Given the description of an element on the screen output the (x, y) to click on. 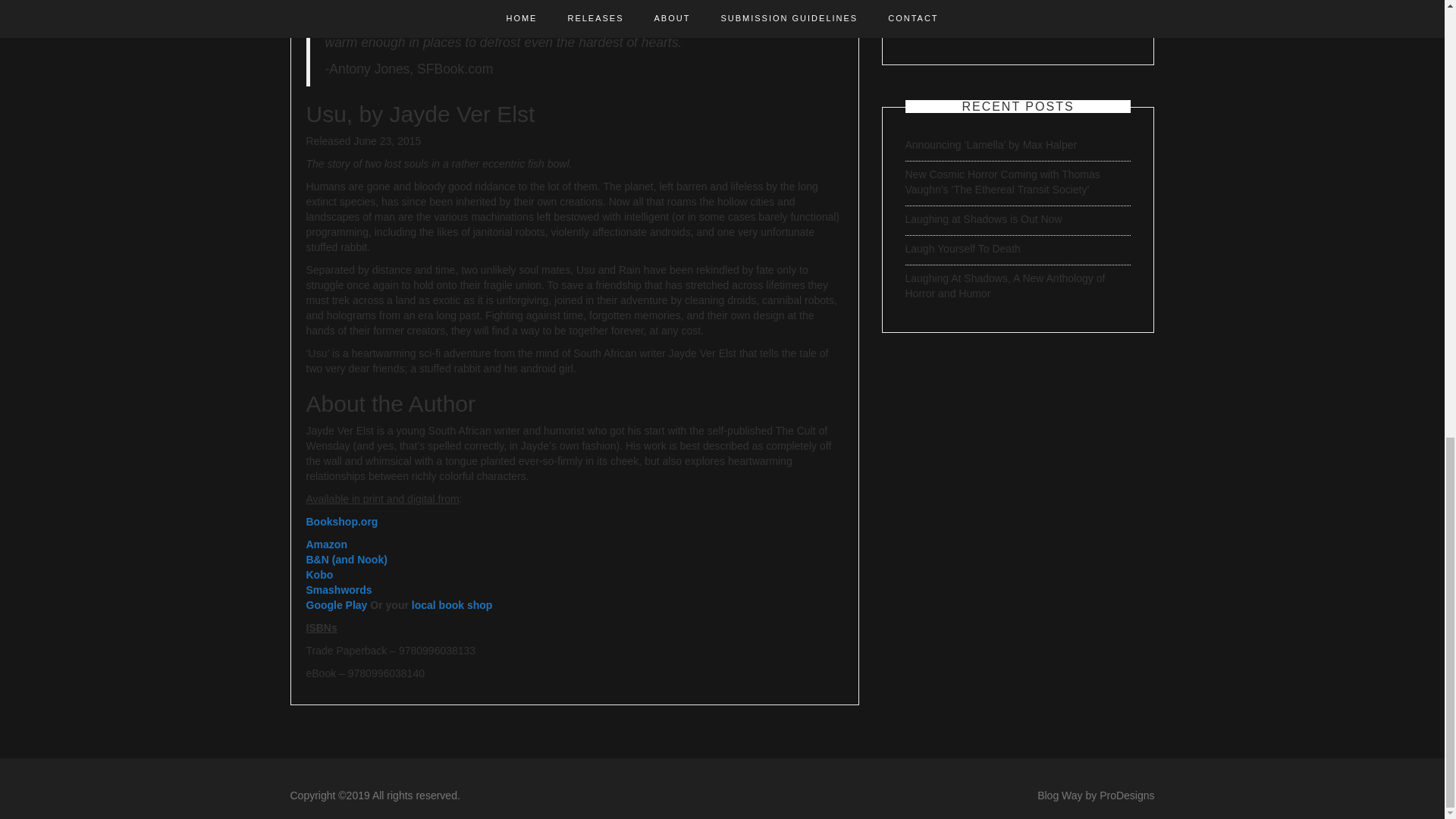
Laughing At Shadows, A New Anthology of Horror and Humor (1005, 285)
Google Play (338, 604)
Laughing at Shadows is Out Now (983, 218)
ProDesigns (1126, 795)
Smashwords (338, 589)
local book shop (452, 604)
Kobo (319, 574)
Bookshop.org (341, 521)
Amazon (326, 544)
Laugh Yourself To Death (962, 248)
